Given the description of an element on the screen output the (x, y) to click on. 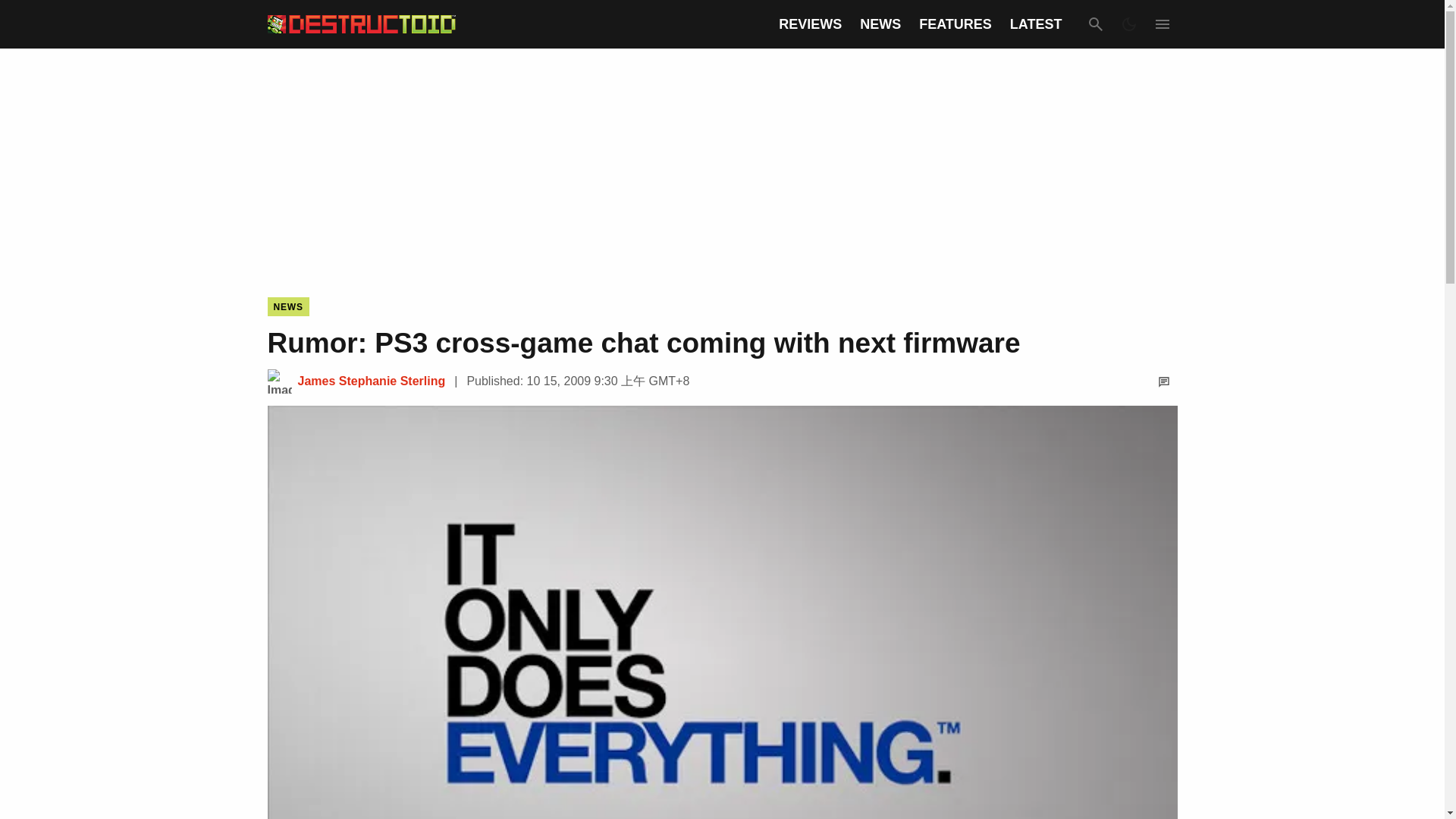
Search (1094, 24)
Dark Mode (1127, 24)
LATEST (1036, 23)
NEWS (287, 306)
Expand Menu (1161, 24)
NEWS (880, 23)
REVIEWS (809, 23)
FEATURES (954, 23)
